Given the description of an element on the screen output the (x, y) to click on. 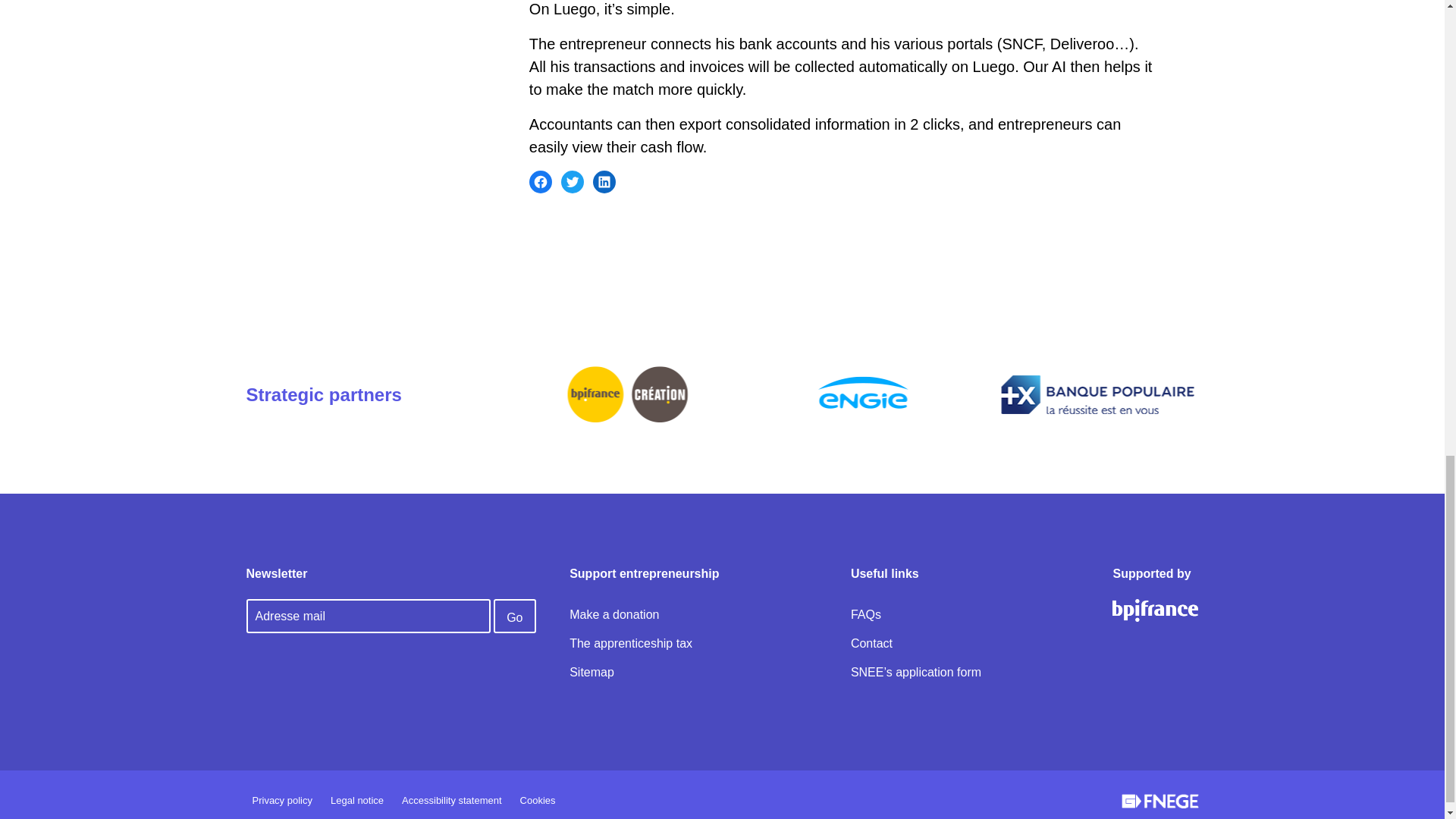
Facebook (540, 181)
Twitter (571, 181)
LinkedIn (603, 181)
Go (514, 615)
